Given the description of an element on the screen output the (x, y) to click on. 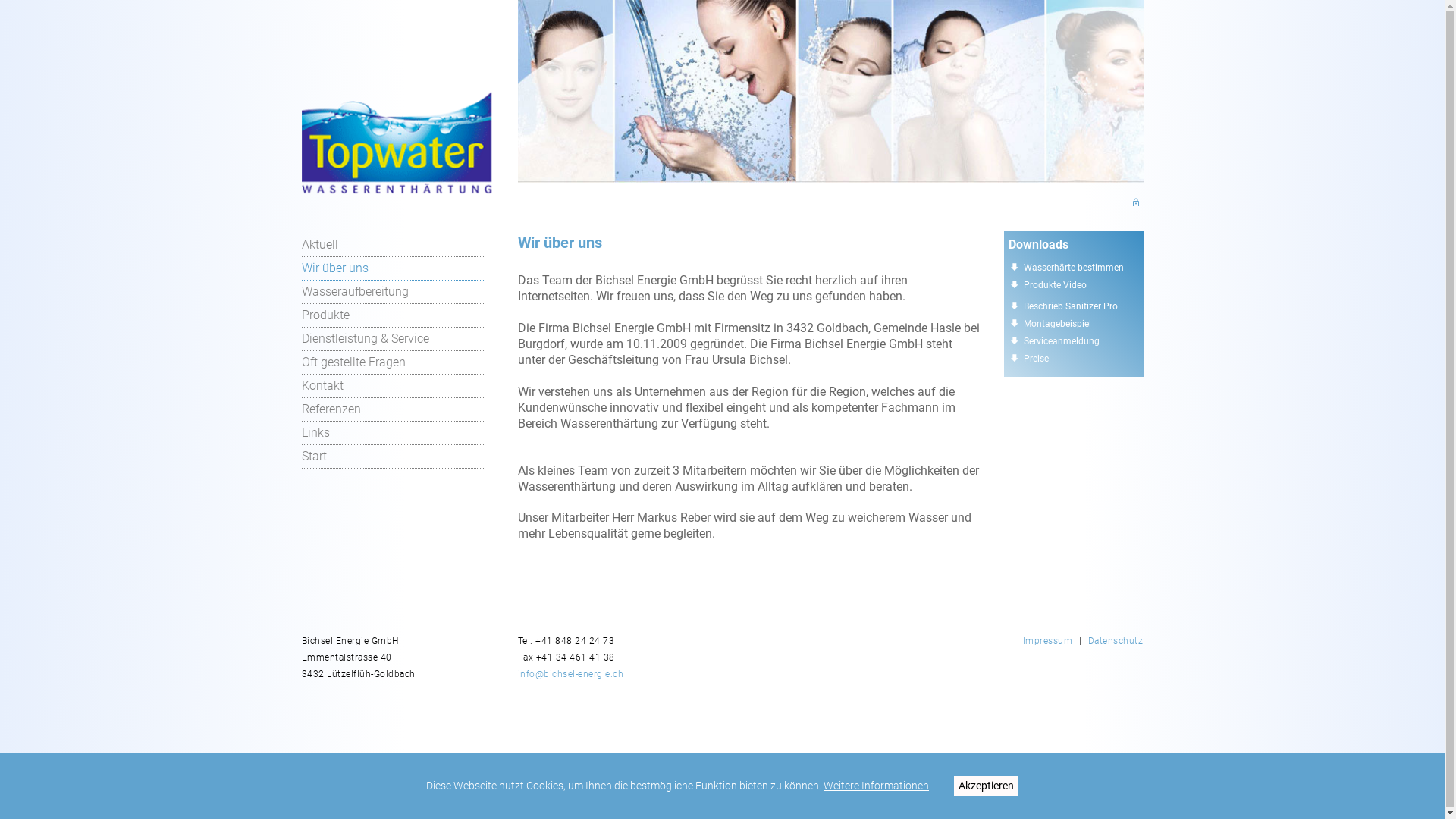
Akzeptieren Element type: text (985, 785)
Beschrieb Sanitizer Pro Element type: text (1070, 306)
Start Element type: text (392, 456)
Montagebeispiel Element type: text (1057, 323)
Serviceanmeldung Element type: text (1061, 340)
Impressum Element type: text (1047, 640)
info@bichsel-energie.ch Element type: text (570, 673)
Preise Element type: text (1035, 358)
Produkte Element type: text (392, 315)
Produkte Video Element type: text (1054, 284)
Datenschutz Element type: text (1115, 640)
lock_open Element type: text (1135, 202)
Oft gestellte Fragen Element type: text (392, 362)
Weitere Informationen Element type: text (875, 785)
Links Element type: text (392, 433)
Referenzen Element type: text (392, 409)
Kontakt Element type: text (392, 386)
Wasseraufbereitung Element type: text (392, 292)
Aktuell Element type: text (392, 245)
Dienstleistung & Service Element type: text (392, 339)
